Given the description of an element on the screen output the (x, y) to click on. 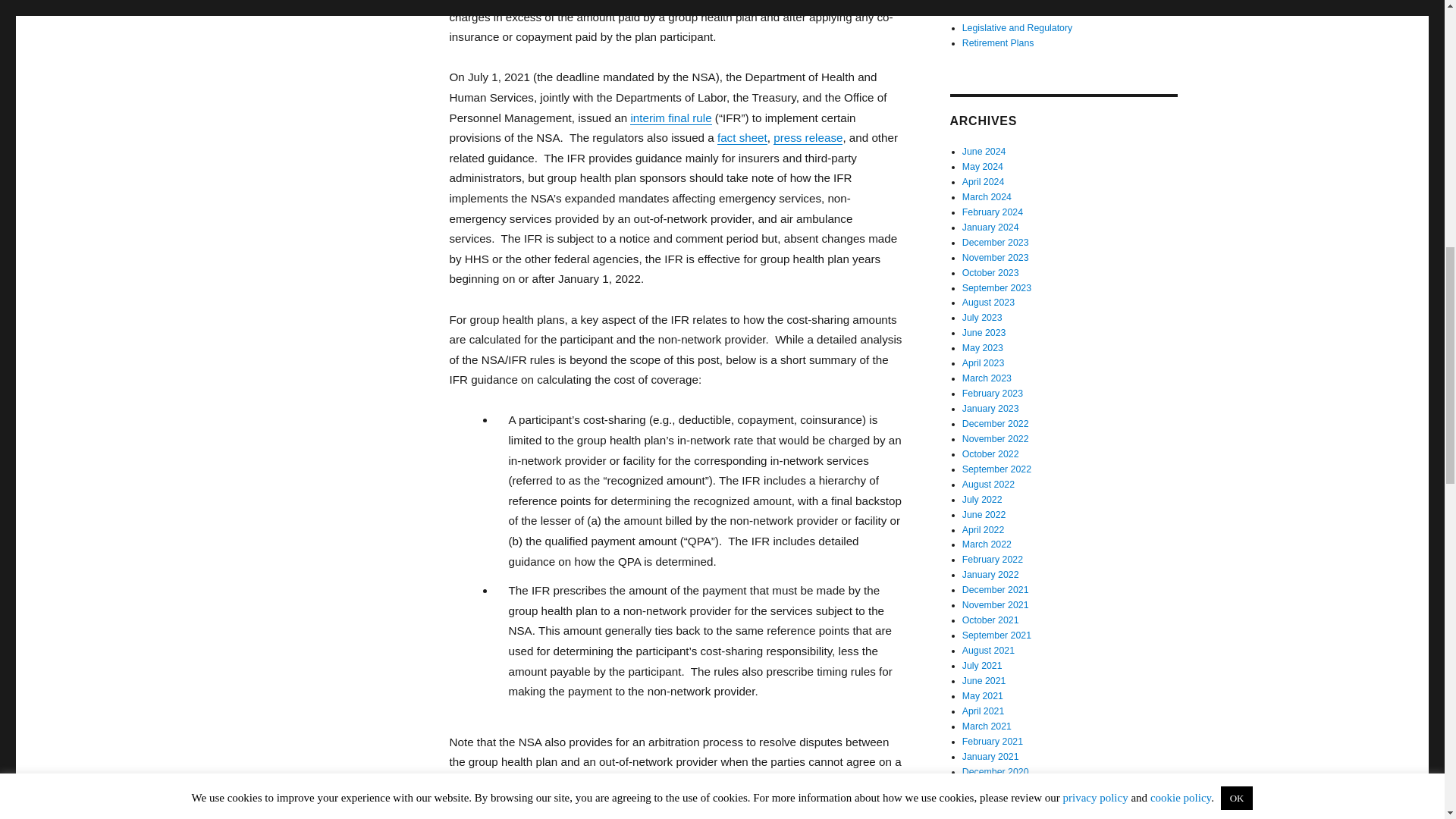
February 2024 (992, 212)
April 2024 (983, 181)
March 2024 (986, 196)
Health and Welfare Plans (1015, 12)
General (978, 1)
interim final rule (670, 117)
January 2024 (990, 226)
press release (808, 137)
June 2024 (984, 151)
May 2024 (982, 166)
fact sheet (742, 137)
Retirement Plans (997, 42)
Legislative and Regulatory (1016, 27)
